Given the description of an element on the screen output the (x, y) to click on. 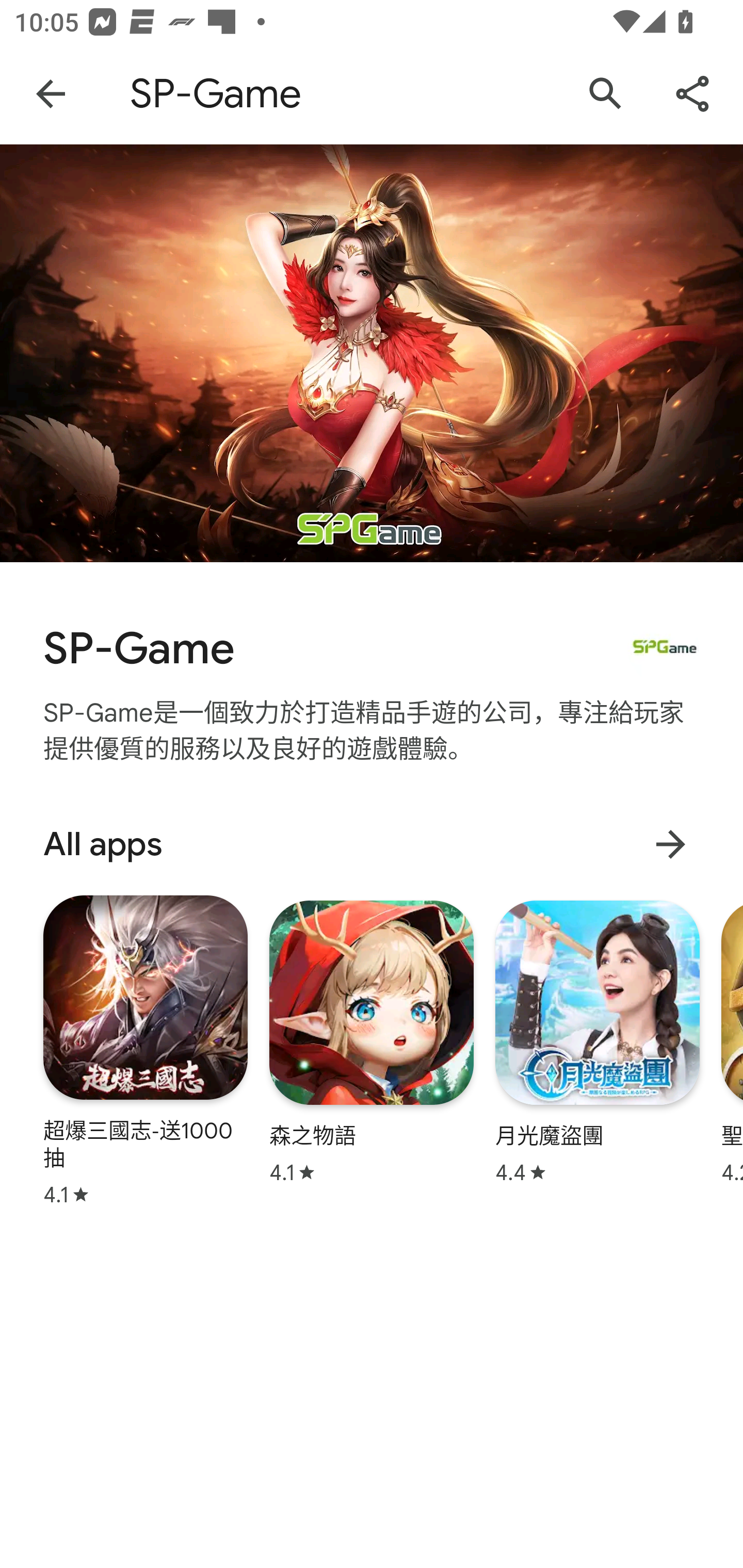
Navigate up (50, 93)
Search Google Play (605, 93)
Share (692, 93)
All apps More results for All apps (371, 844)
More results for All apps (670, 844)
超爆三國志-送1000抽
Star rating: 4.1
 (145, 1050)
森之物語
Star rating: 4.1
 (371, 1041)
月光魔盜團
Star rating: 4.4
 (597, 1041)
